Given the description of an element on the screen output the (x, y) to click on. 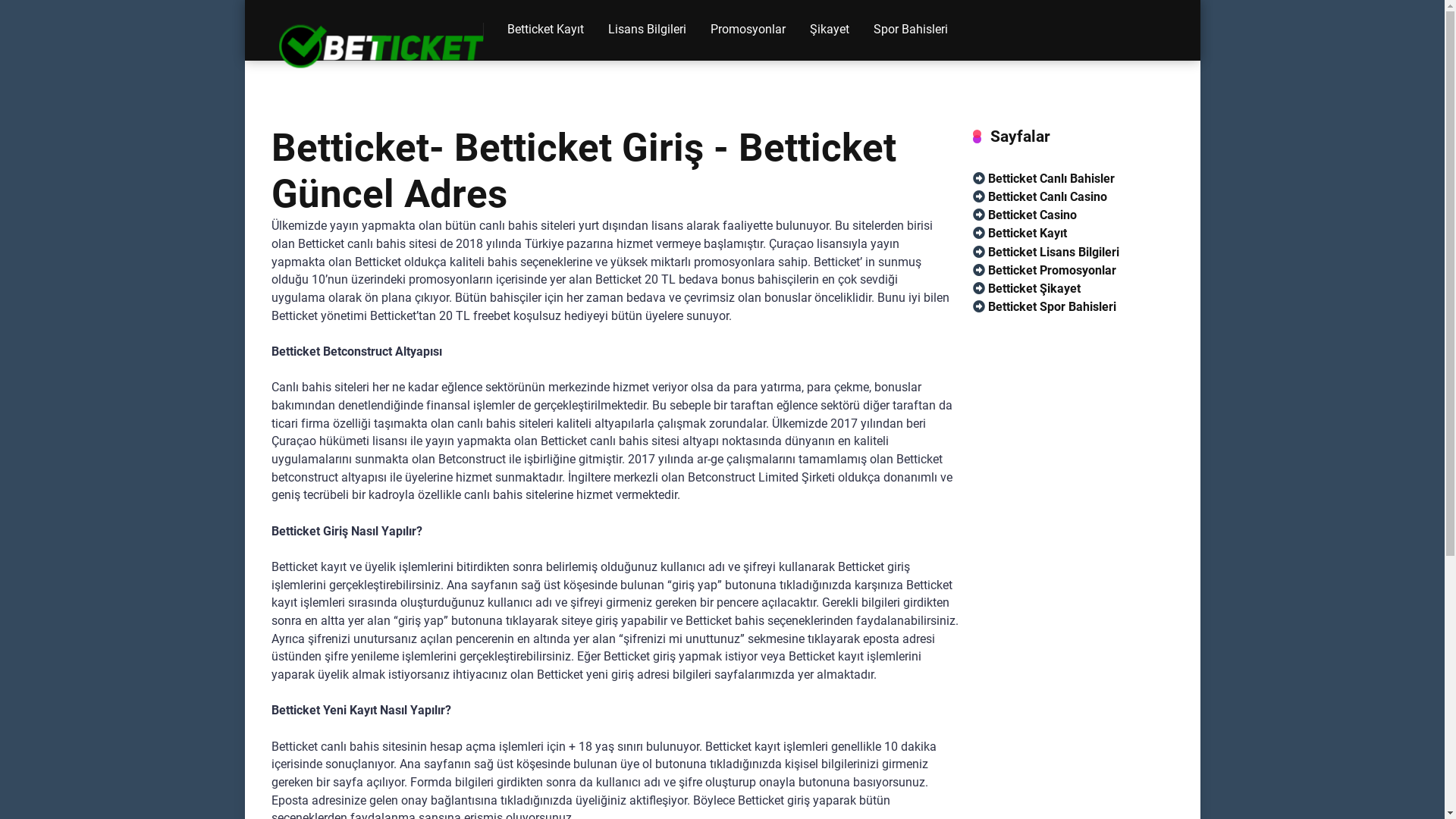
Lisans Bilgileri Element type: text (647, 30)
Betticket Casino Element type: text (1024, 214)
Betticket Spor Bahisleri Element type: text (1043, 306)
Spor Bahisleri Element type: text (910, 30)
Betticket Promosyonlar Element type: text (1043, 270)
Promosyonlar Element type: text (747, 30)
Betticket Lisans Bilgileri Element type: text (1045, 252)
